Given the description of an element on the screen output the (x, y) to click on. 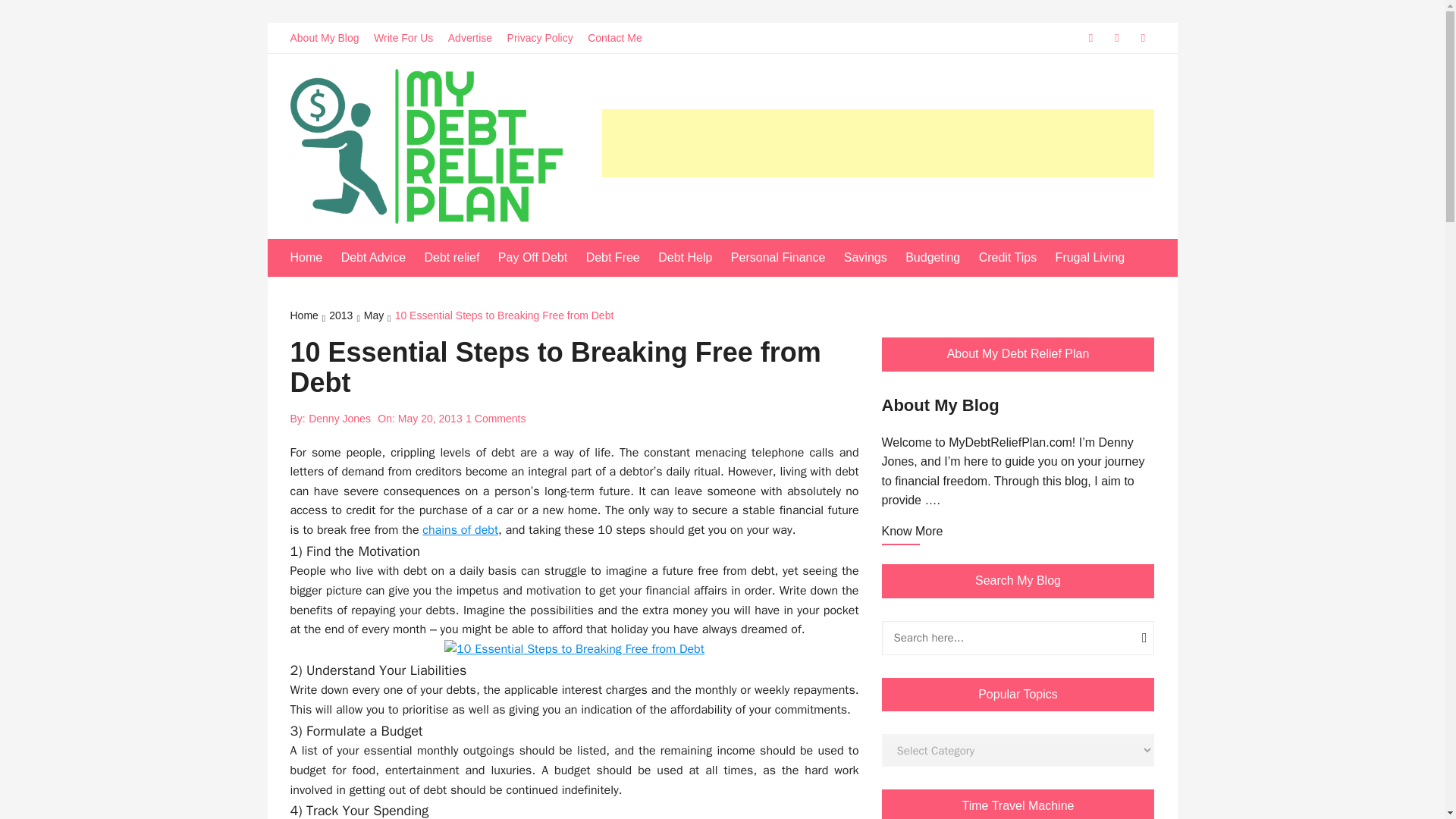
Denny Jones (339, 418)
May (379, 316)
Debt Advice (380, 257)
Write For Us (409, 37)
2013 (346, 316)
chains of debt (459, 529)
Debt relief (459, 257)
10 Essential Steps to Breaking Free from Debt (504, 316)
About My Blog (329, 37)
10 Essential Steps to Breaking Free from Debt (574, 649)
Credit Tips (1014, 257)
Savings (873, 257)
May 20, 2013 (430, 418)
Personal Finance (785, 257)
